Given the description of an element on the screen output the (x, y) to click on. 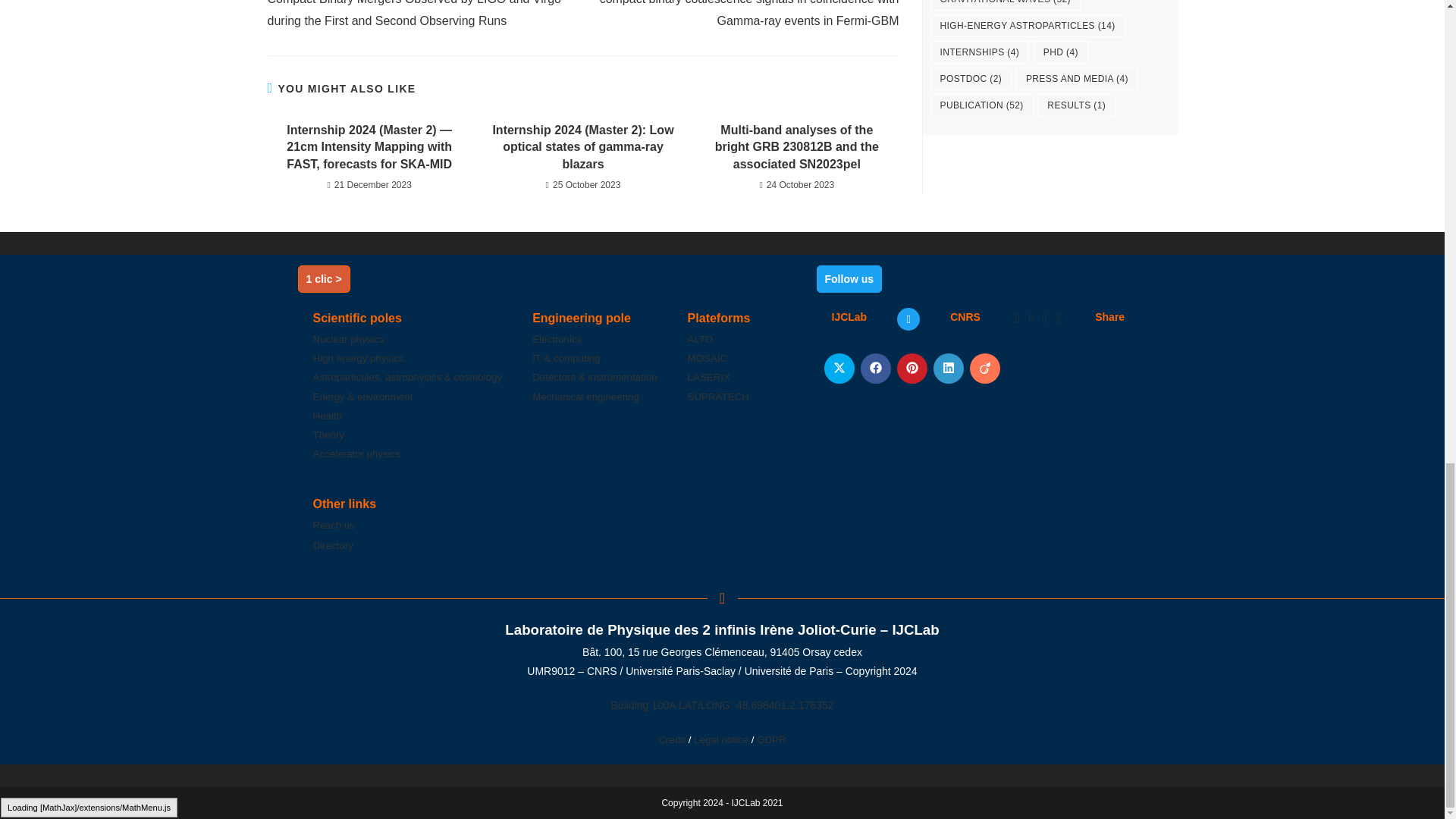
Share on X (838, 368)
Share on Pinterest (911, 368)
Share on Viadeo (983, 368)
Share on Facebook (874, 368)
Share on LinkedIn (947, 368)
